Given the description of an element on the screen output the (x, y) to click on. 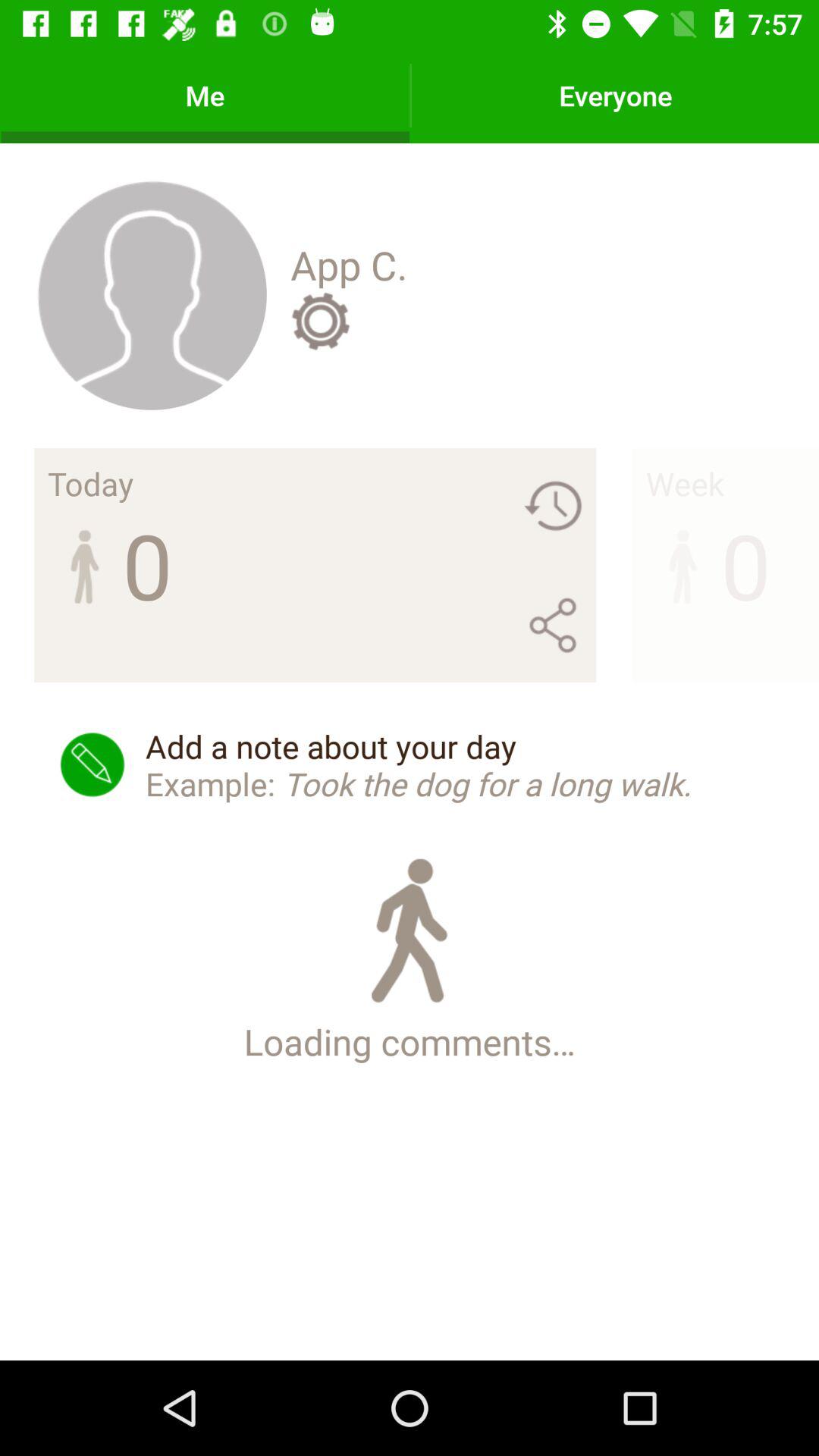
turn on icon above the add a note (320, 320)
